Given the description of an element on the screen output the (x, y) to click on. 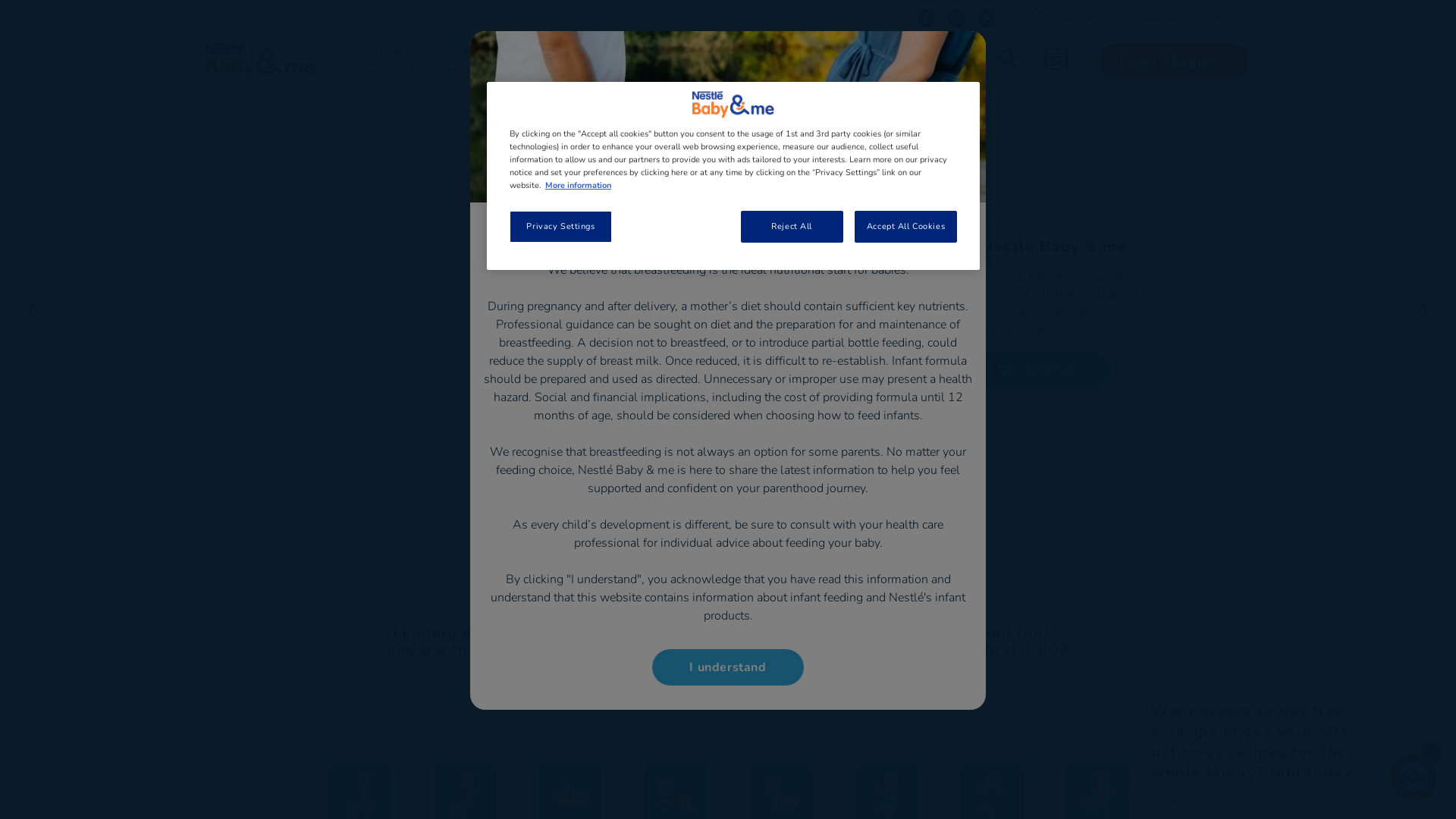
Partner Hub Element type: text (828, 50)
FAQs Icon Element type: hover (1040, 15)
3 Element type: text (727, 547)
Breastfeeding is best Element type: text (1179, 17)
2 Element type: text (715, 547)
Company Logo Element type: hover (733, 104)
1 Element type: text (703, 547)
instagram Element type: hover (955, 18)
youtube Element type: hover (985, 18)
Search Element type: hover (1008, 61)
4 Element type: text (740, 547)
Join Our Club Element type: text (393, 50)
Search Element type: text (1107, 115)
Skip to main content Element type: text (0, 0)
Login / Register Element type: text (1173, 61)
MyFeed Personalized Content Element type: hover (1055, 58)
I understand Element type: text (727, 667)
facebook Element type: hover (925, 18)
Need Help? Element type: text (1087, 17)
5 Element type: text (752, 547)
Take a spin Element type: text (1035, 387)
Next Element type: text (1425, 310)
Previous Element type: text (30, 310)
